Given the description of an element on the screen output the (x, y) to click on. 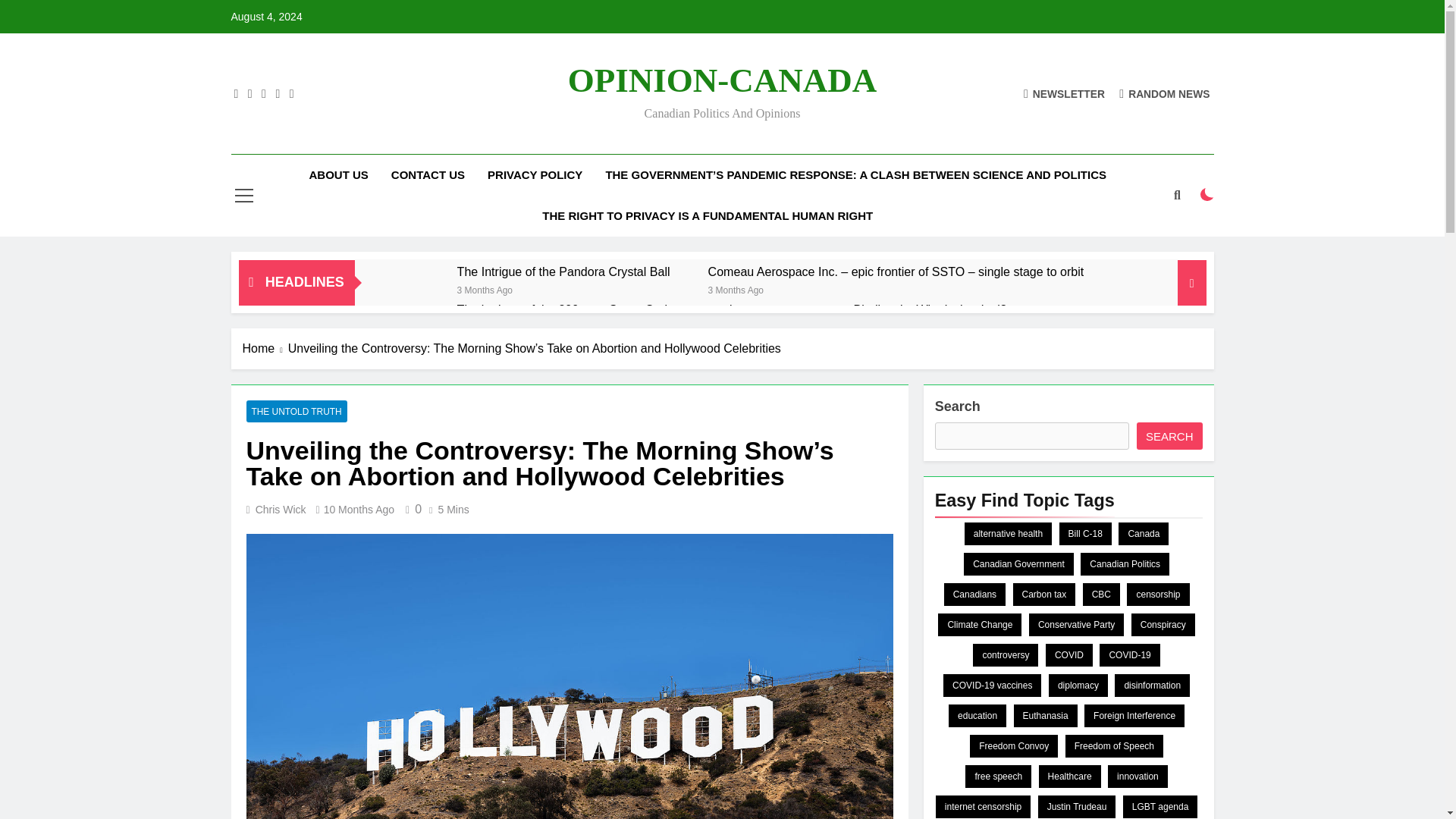
The intrigue of the 200 mpg Super Carburetor continues (607, 309)
The Intrigue of the Pandora Crystal Ball (563, 271)
THE RIGHT TO PRIVACY IS A FUNDAMENTAL HUMAN RIGHT (707, 215)
The Intrigue of the Pandora Crystal Ball (413, 291)
3 Months Ago (484, 288)
The Intrigue of the Pandora Crystal Ball (563, 271)
The intrigue of the 200 mpg Super Carburetor continues (413, 329)
3 Months Ago (734, 288)
CONTACT US (428, 174)
NEWSLETTER (1064, 92)
